Given the description of an element on the screen output the (x, y) to click on. 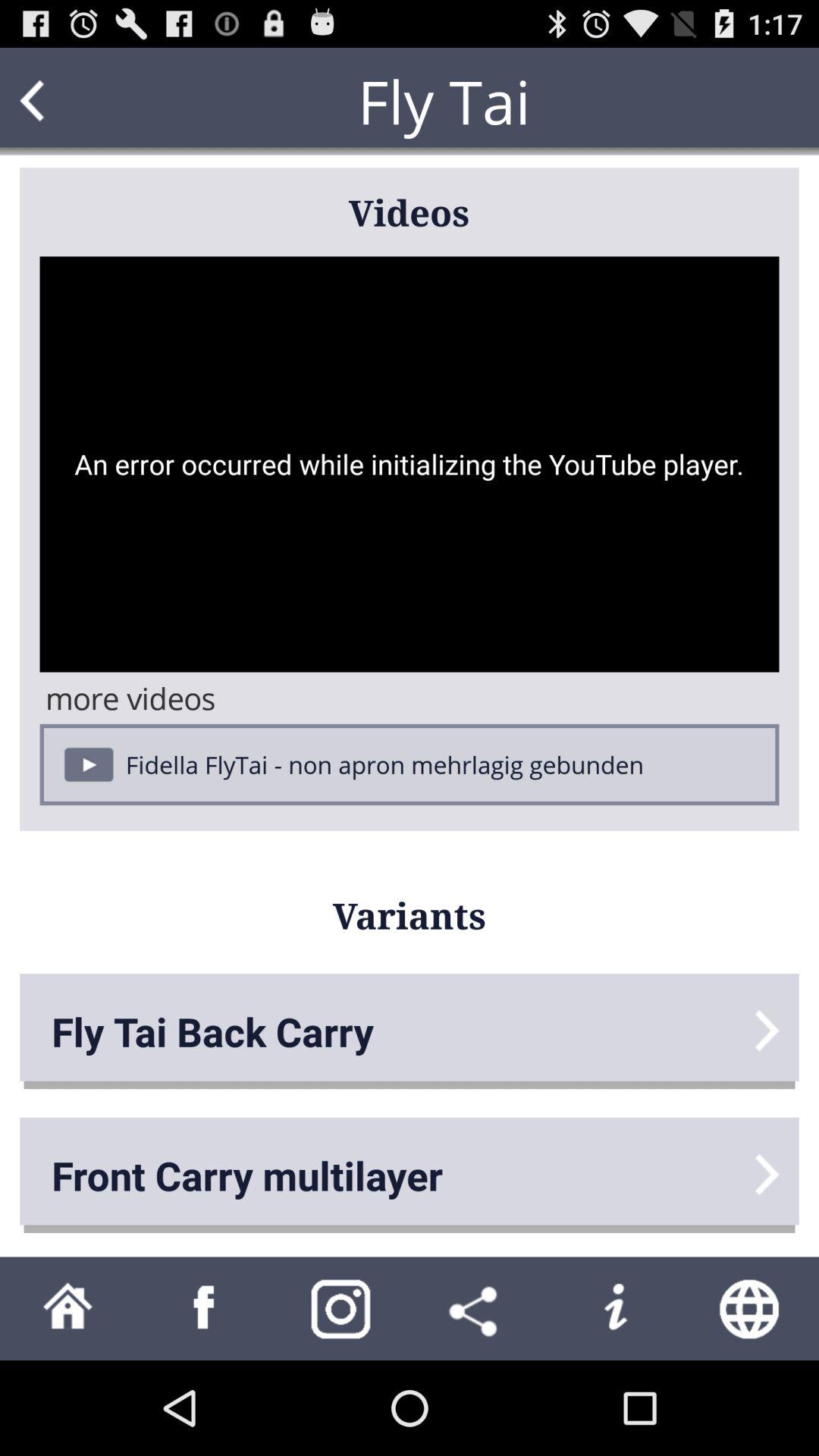
its a home button in app (68, 1308)
